Given the description of an element on the screen output the (x, y) to click on. 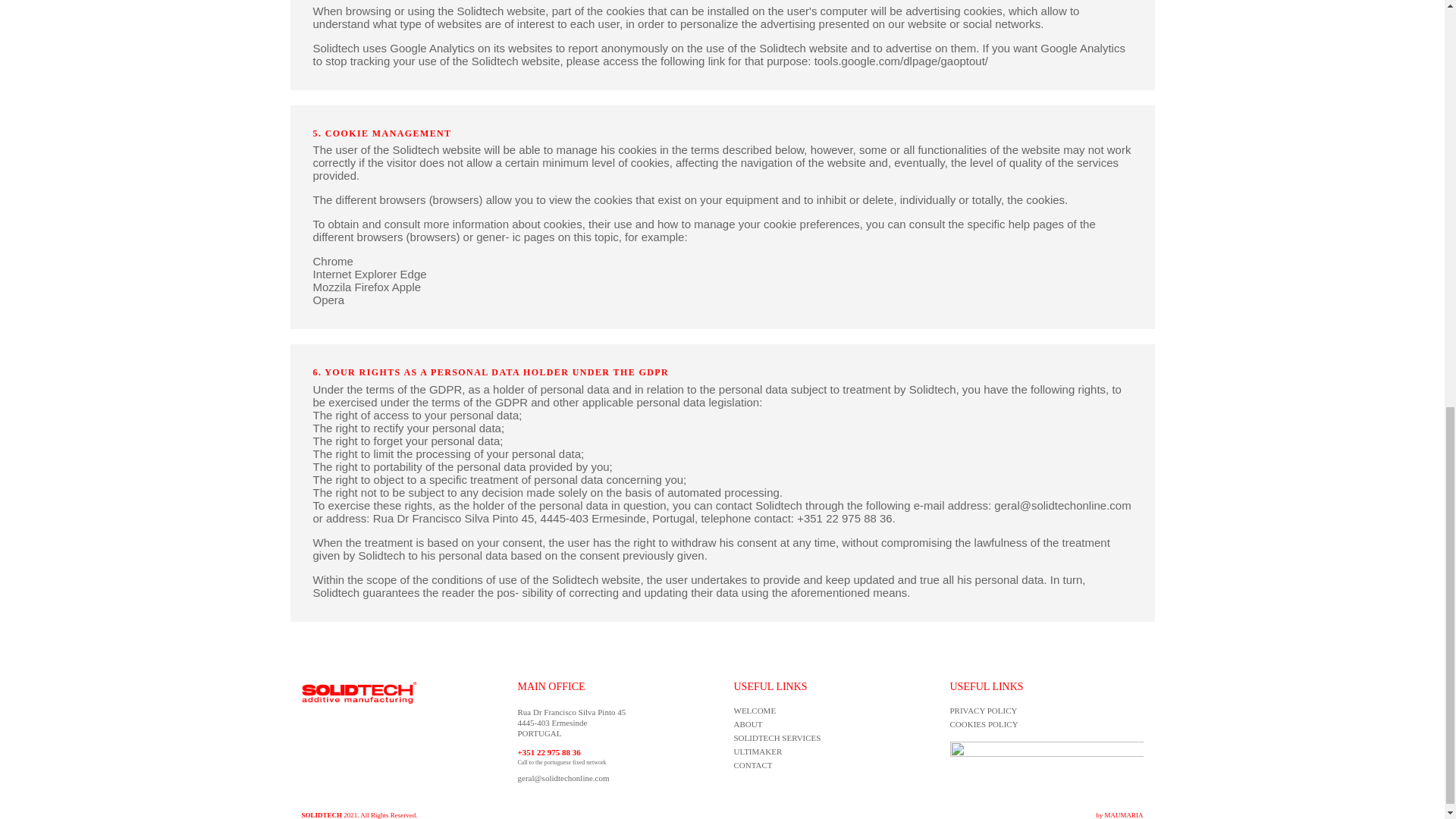
SOLIDTECH SERVICES (777, 737)
ULTIMAKER (758, 750)
ABOUT (747, 723)
WELCOME (754, 709)
